Given the description of an element on the screen output the (x, y) to click on. 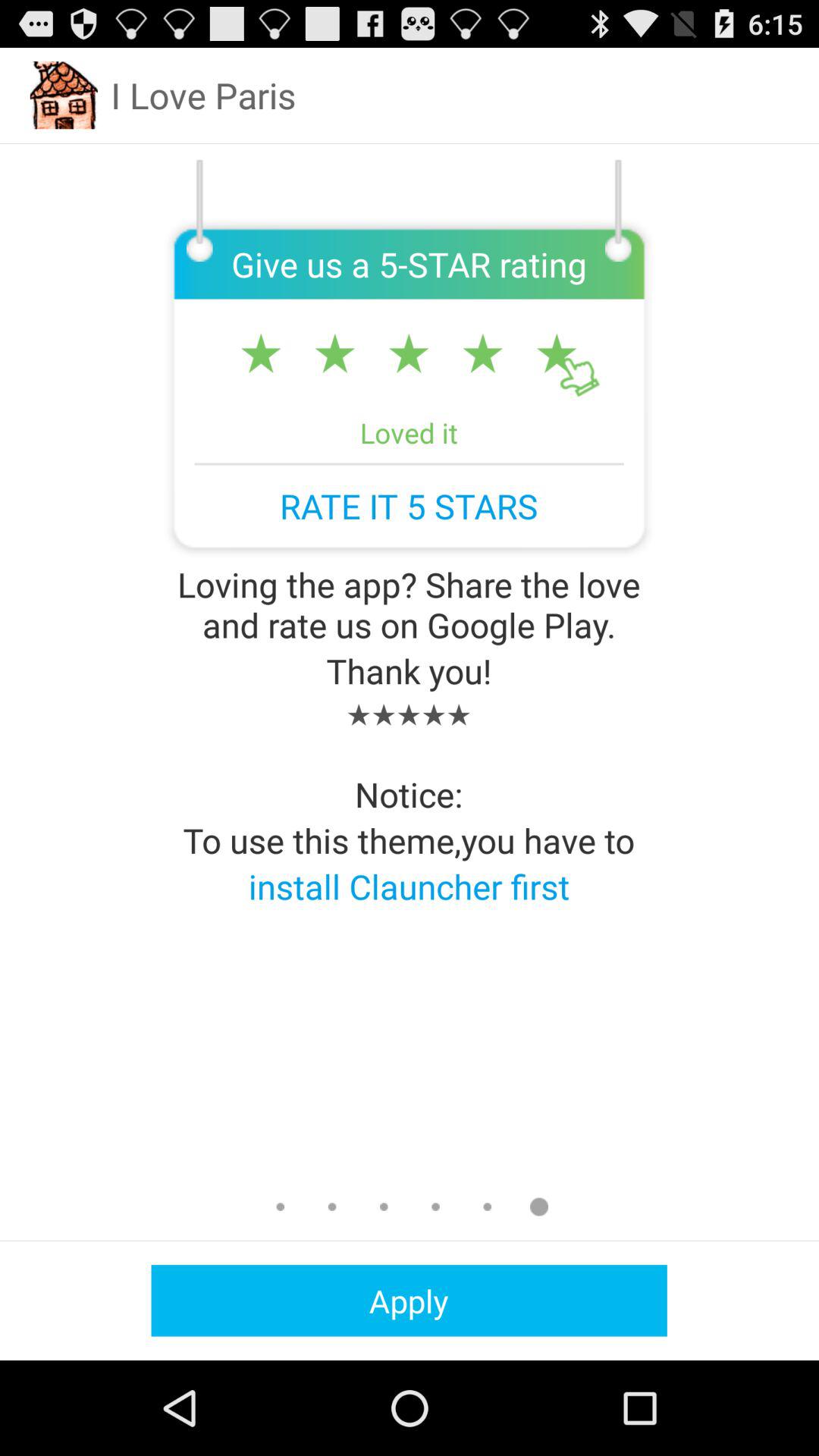
flip until the apply icon (409, 1300)
